Given the description of an element on the screen output the (x, y) to click on. 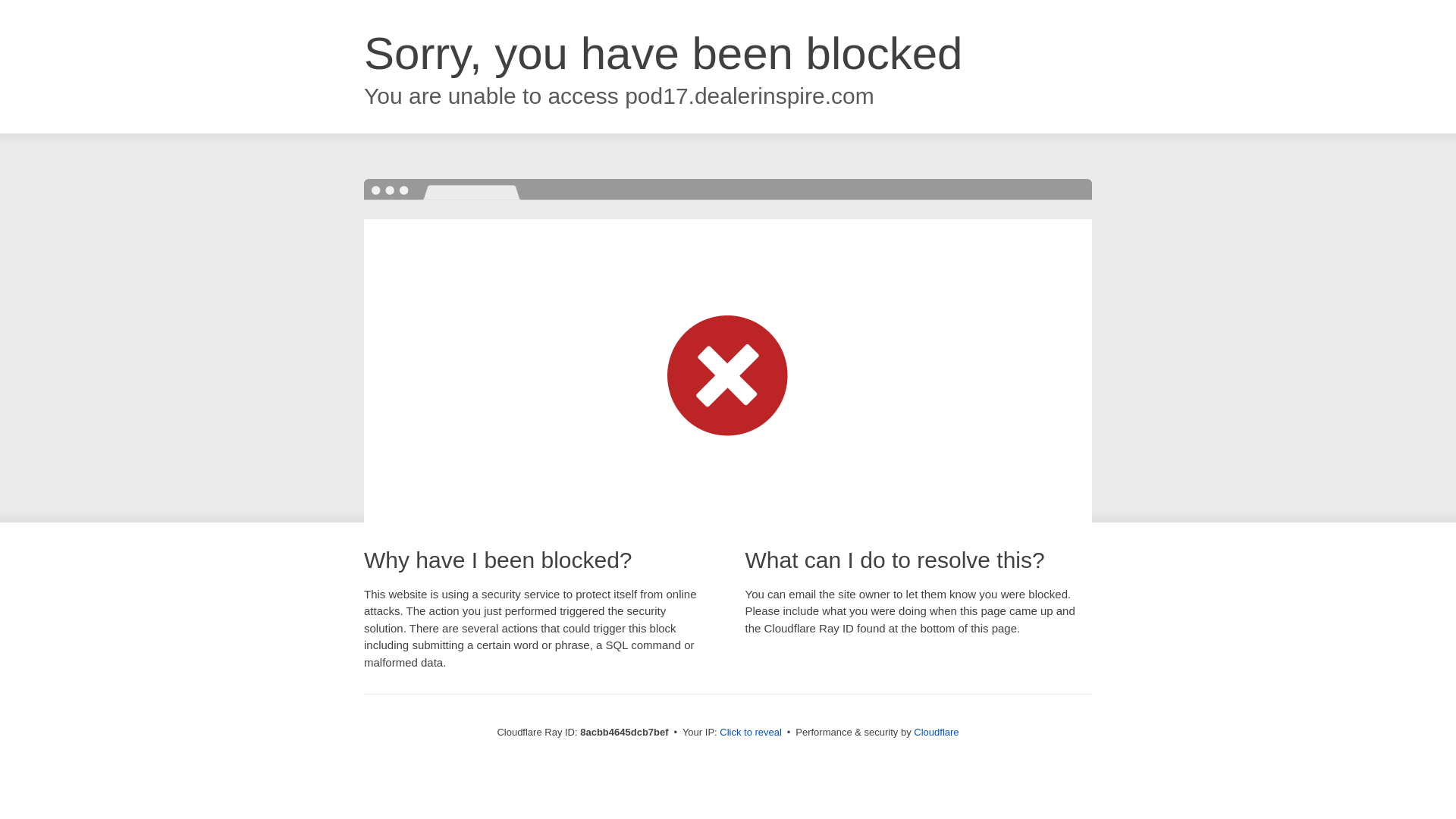
Click to reveal (750, 732)
Cloudflare (936, 731)
